Given the description of an element on the screen output the (x, y) to click on. 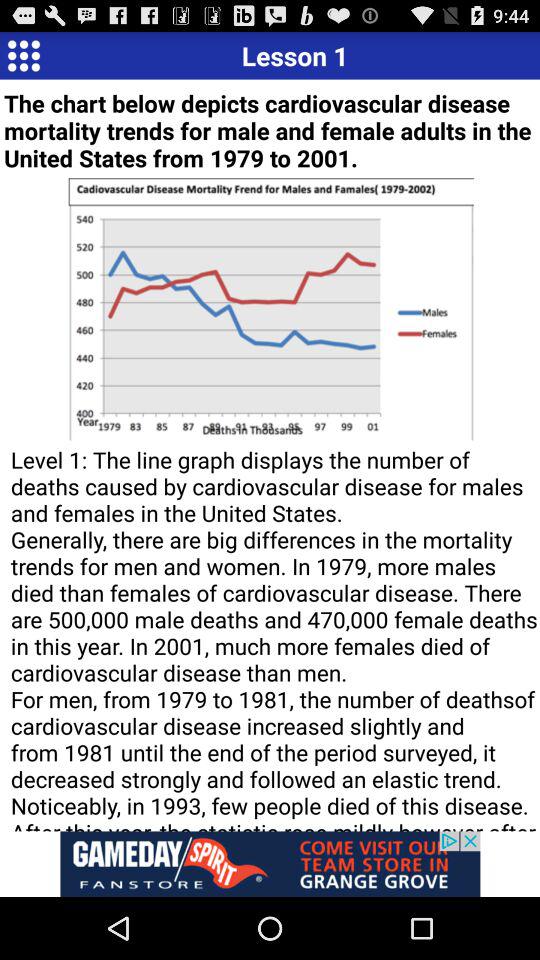
setting option (23, 55)
